Given the description of an element on the screen output the (x, y) to click on. 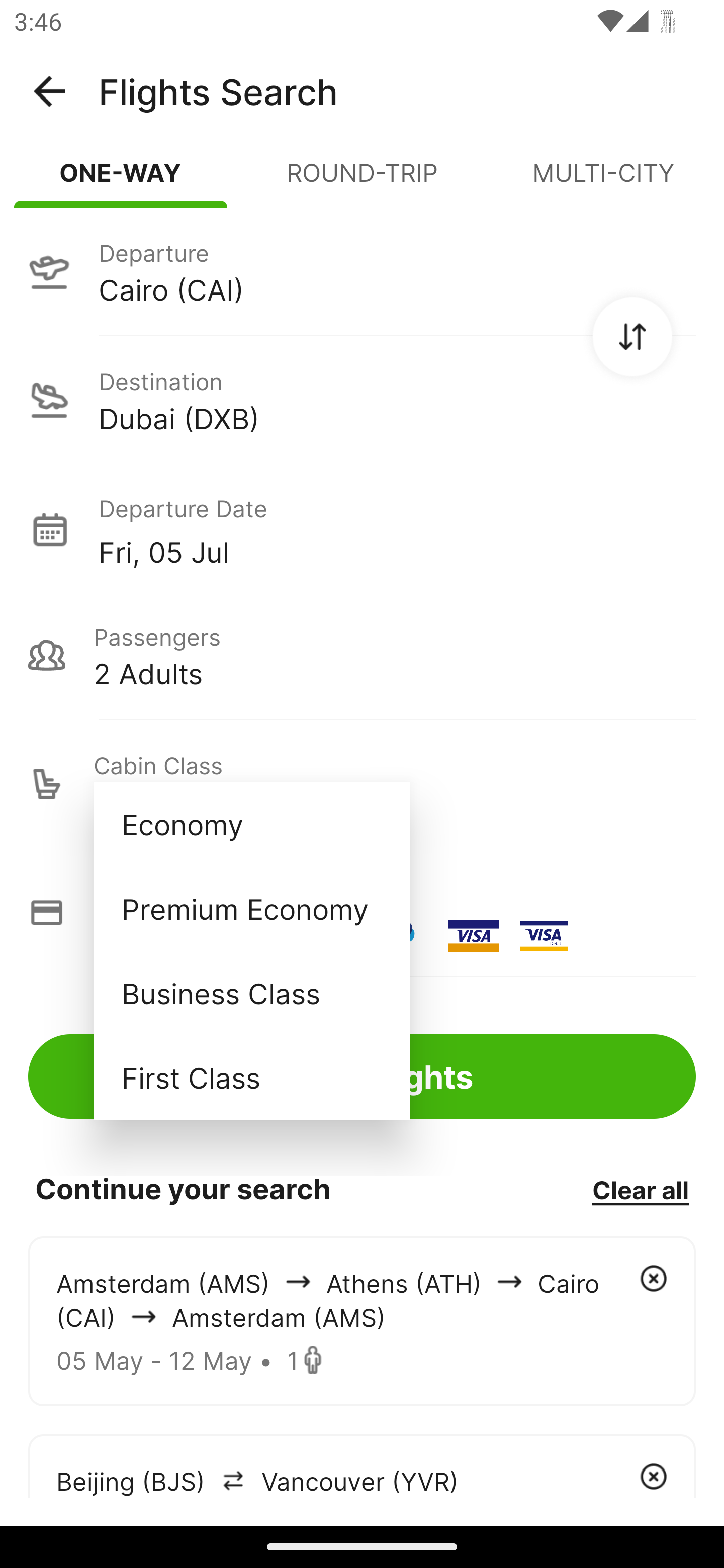
Economy (251, 824)
Premium Economy (251, 908)
Business Class (251, 992)
First Class (251, 1076)
